Given the description of an element on the screen output the (x, y) to click on. 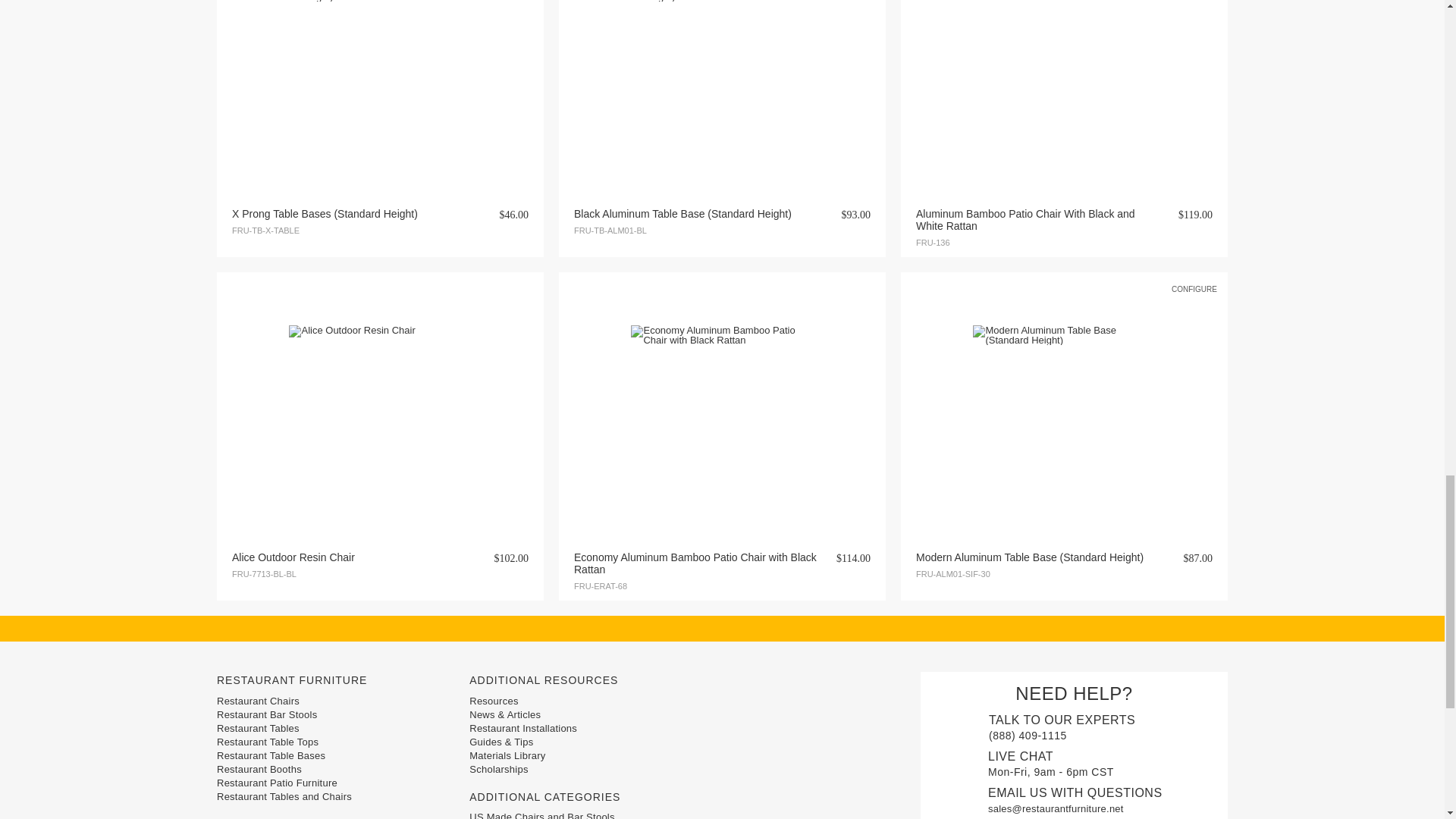
Alice Outdoor Resin Chair (379, 415)
Aluminum Bamboo Patio Chair With Black and White Rattan (1063, 81)
Economy Aluminum Bamboo Patio Chair with Black Rattan (721, 415)
